Given the description of an element on the screen output the (x, y) to click on. 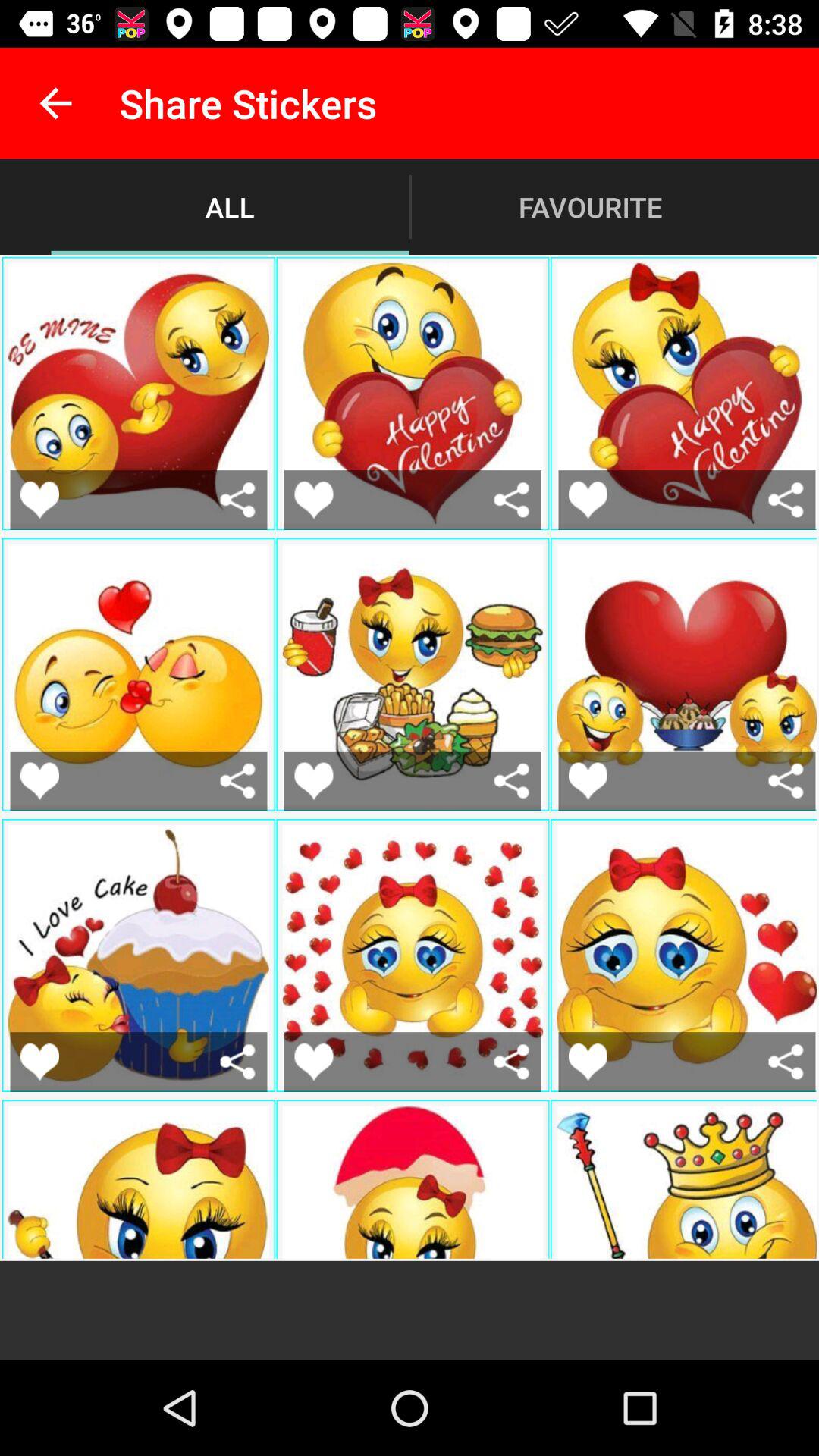
share option (511, 499)
